Given the description of an element on the screen output the (x, y) to click on. 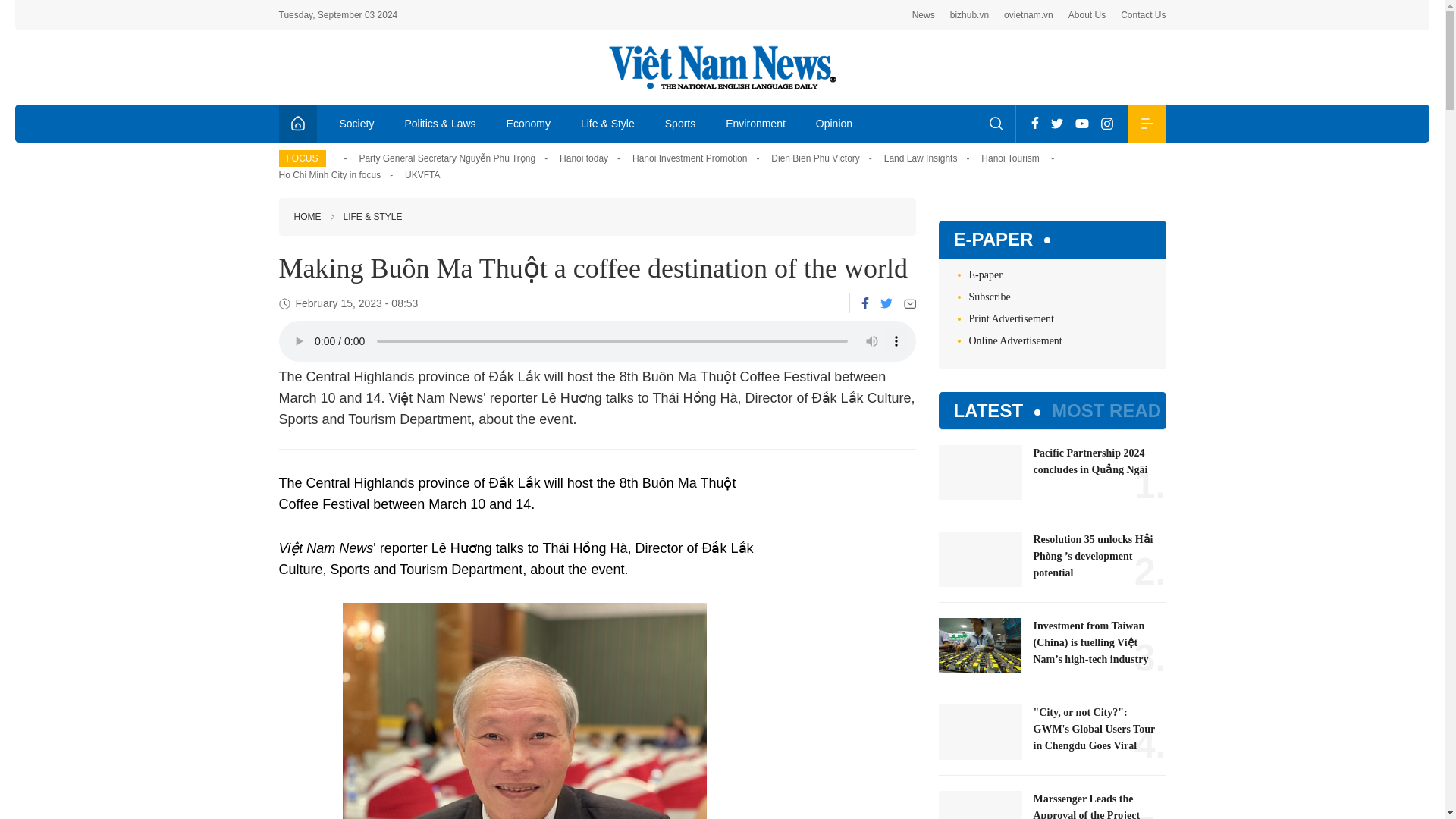
Facebook (1035, 123)
ovietnam.vn (1028, 15)
Youtube (1081, 122)
Environment (755, 123)
Twitter (885, 303)
About Us (1086, 15)
bizhub.vn (969, 15)
Contact Us (1143, 15)
Email (909, 303)
Instagram (1106, 123)
